Given the description of an element on the screen output the (x, y) to click on. 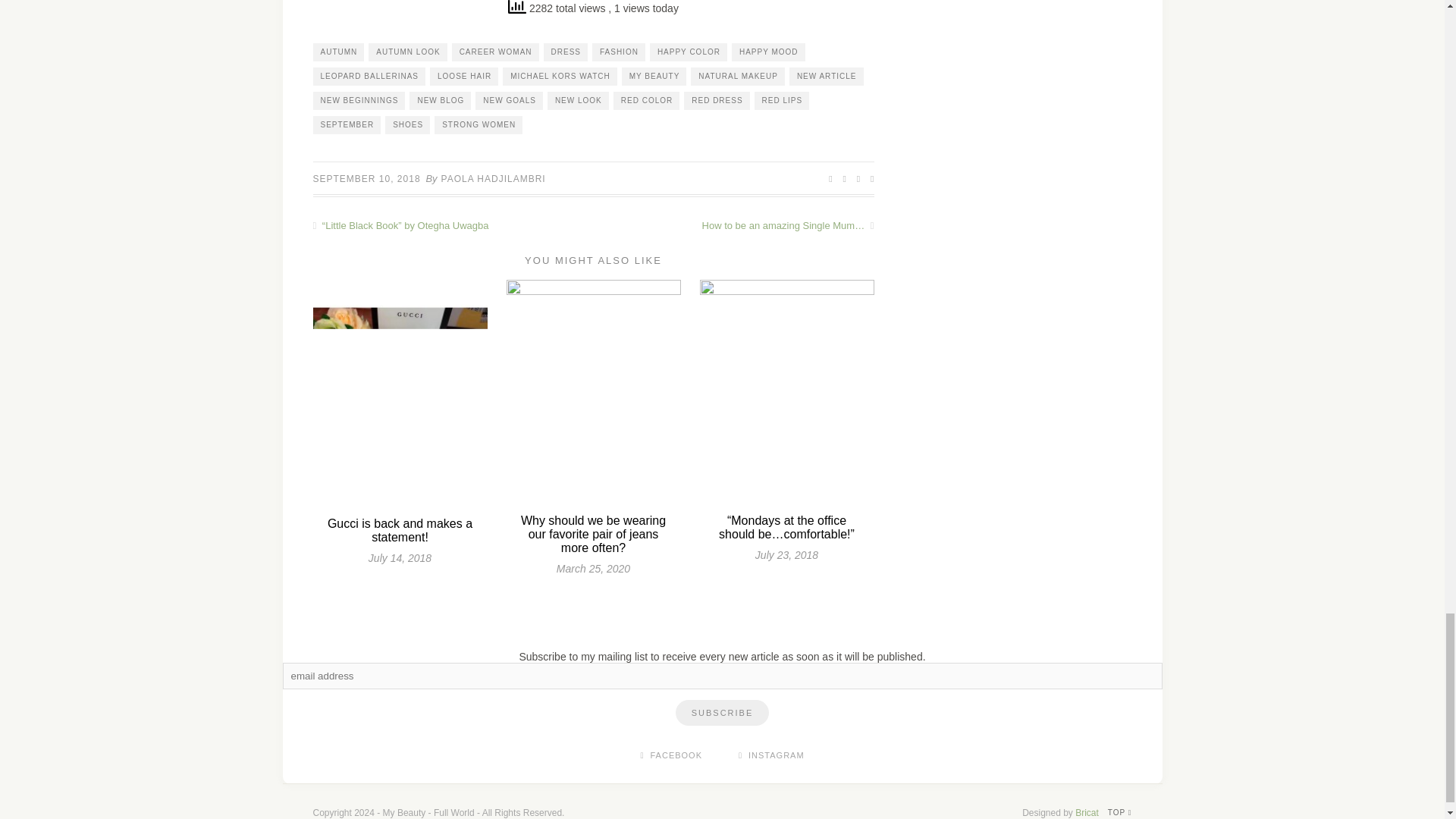
Posts by Paola Hadjilambri (493, 178)
Subscribe (722, 712)
DRESS (565, 52)
FASHION (618, 52)
HAPPY MOOD (768, 52)
AUTUMN (338, 52)
AUTUMN LOOK (407, 52)
CAREER WOMAN (494, 52)
HAPPY COLOR (687, 52)
